Given the description of an element on the screen output the (x, y) to click on. 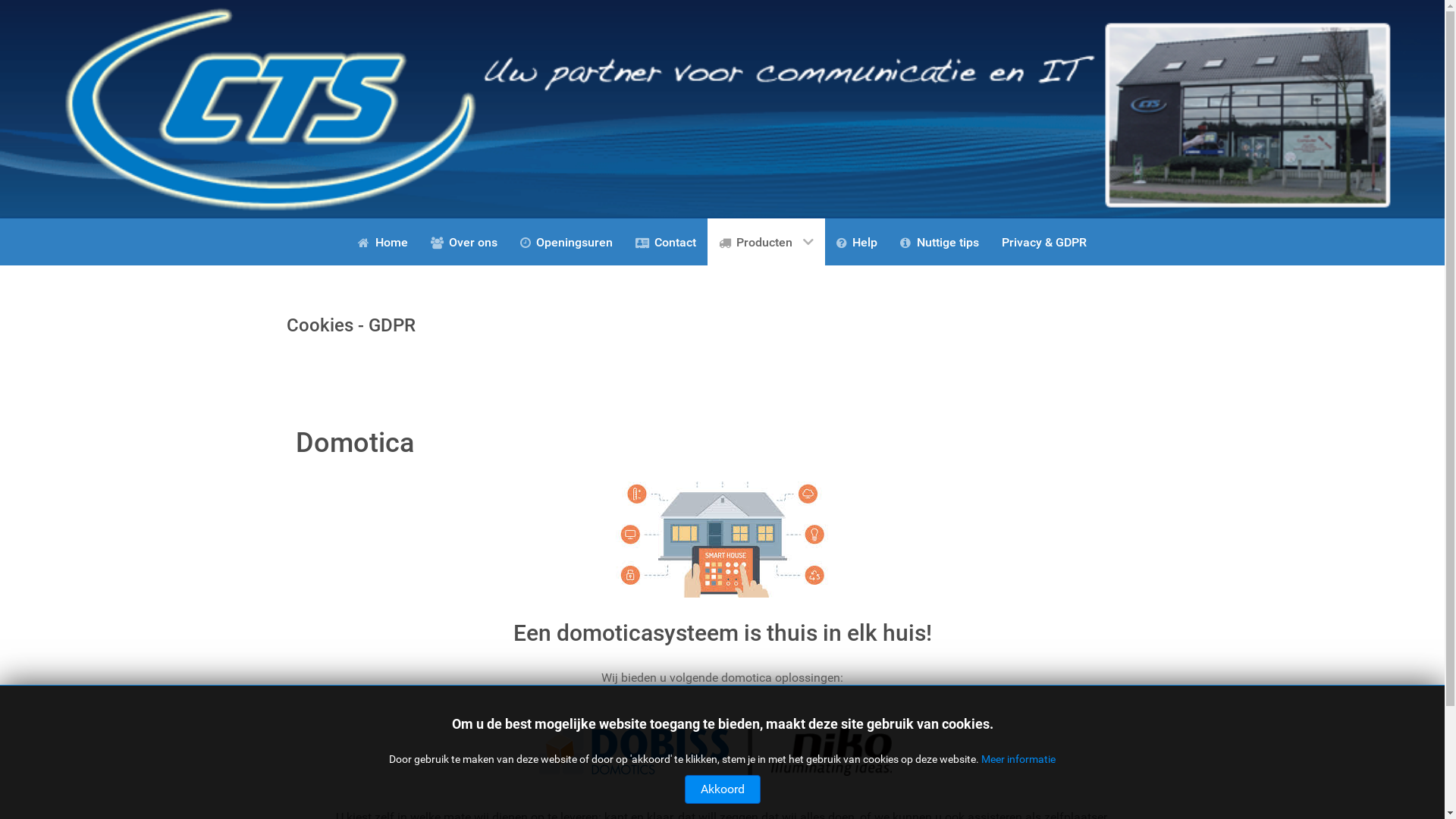
Home Element type: text (382, 241)
Nuttige tips Element type: text (938, 241)
Help Element type: text (856, 241)
Niko home control Element type: hover (830, 747)
Over ons Element type: text (463, 241)
Contact Element type: text (665, 241)
Privacy & GDPR Element type: text (1044, 241)
Meer informatie Element type: text (1018, 759)
Producten Element type: text (766, 241)
Dobiss domotica Element type: hover (633, 747)
Openingsuren Element type: text (566, 241)
